Given the description of an element on the screen output the (x, y) to click on. 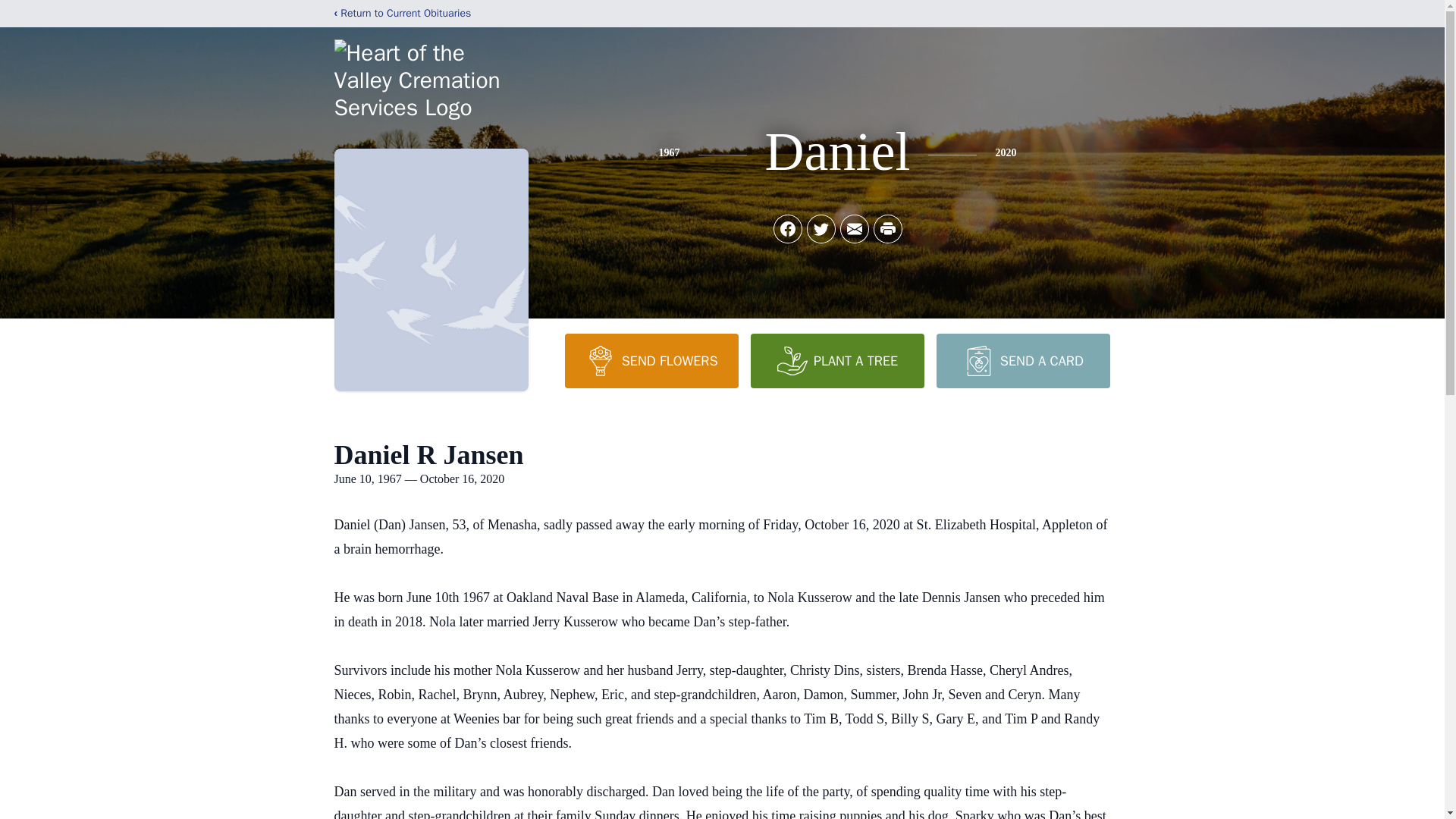
SEND A CARD (1022, 360)
SEND FLOWERS (651, 360)
PLANT A TREE (837, 360)
